Given the description of an element on the screen output the (x, y) to click on. 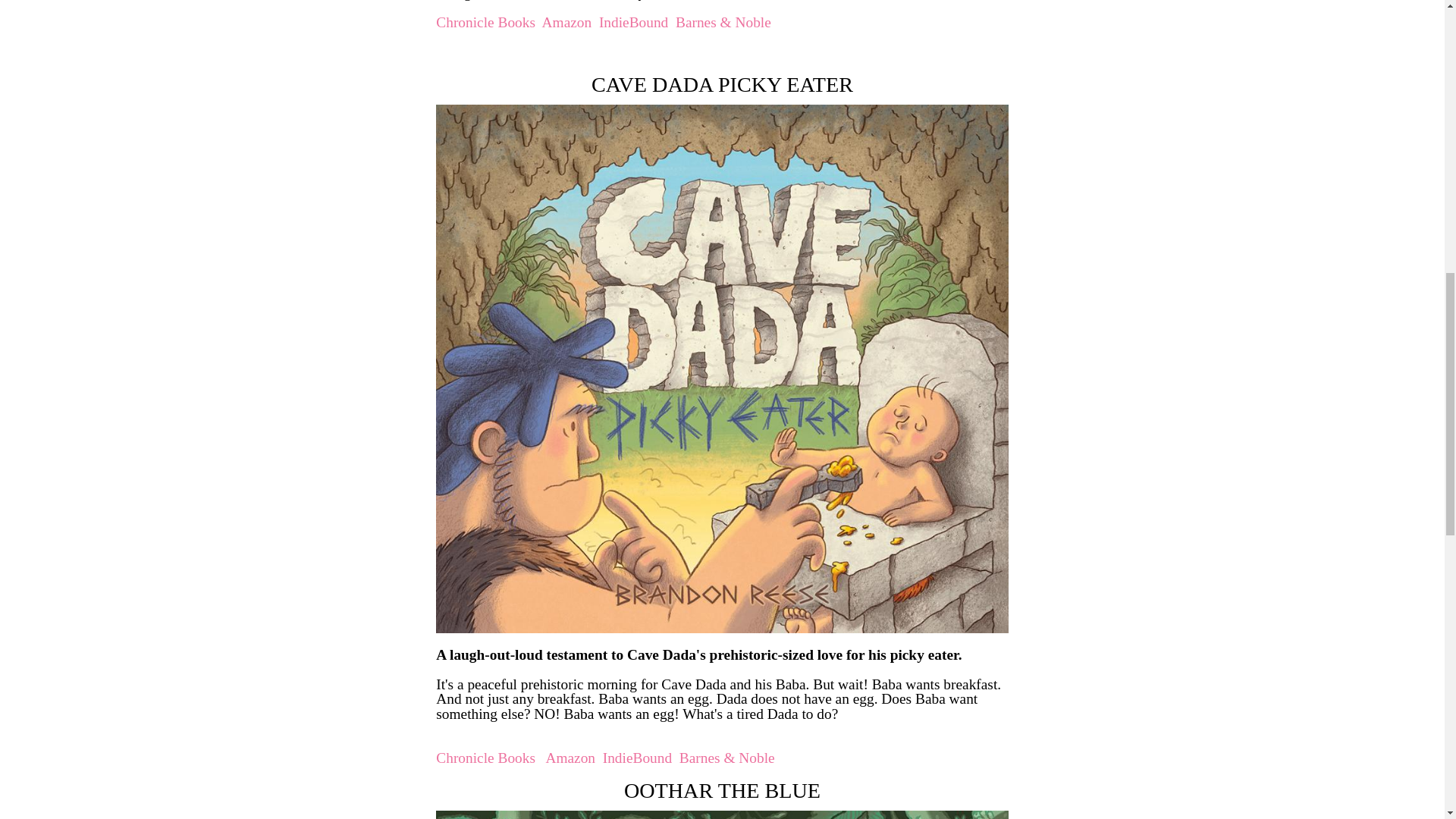
Amazon (569, 757)
Chronicle Books (485, 22)
IndieBound (633, 22)
IndieBound (636, 757)
Chronicle Books (485, 757)
Amazon (566, 22)
